Given the description of an element on the screen output the (x, y) to click on. 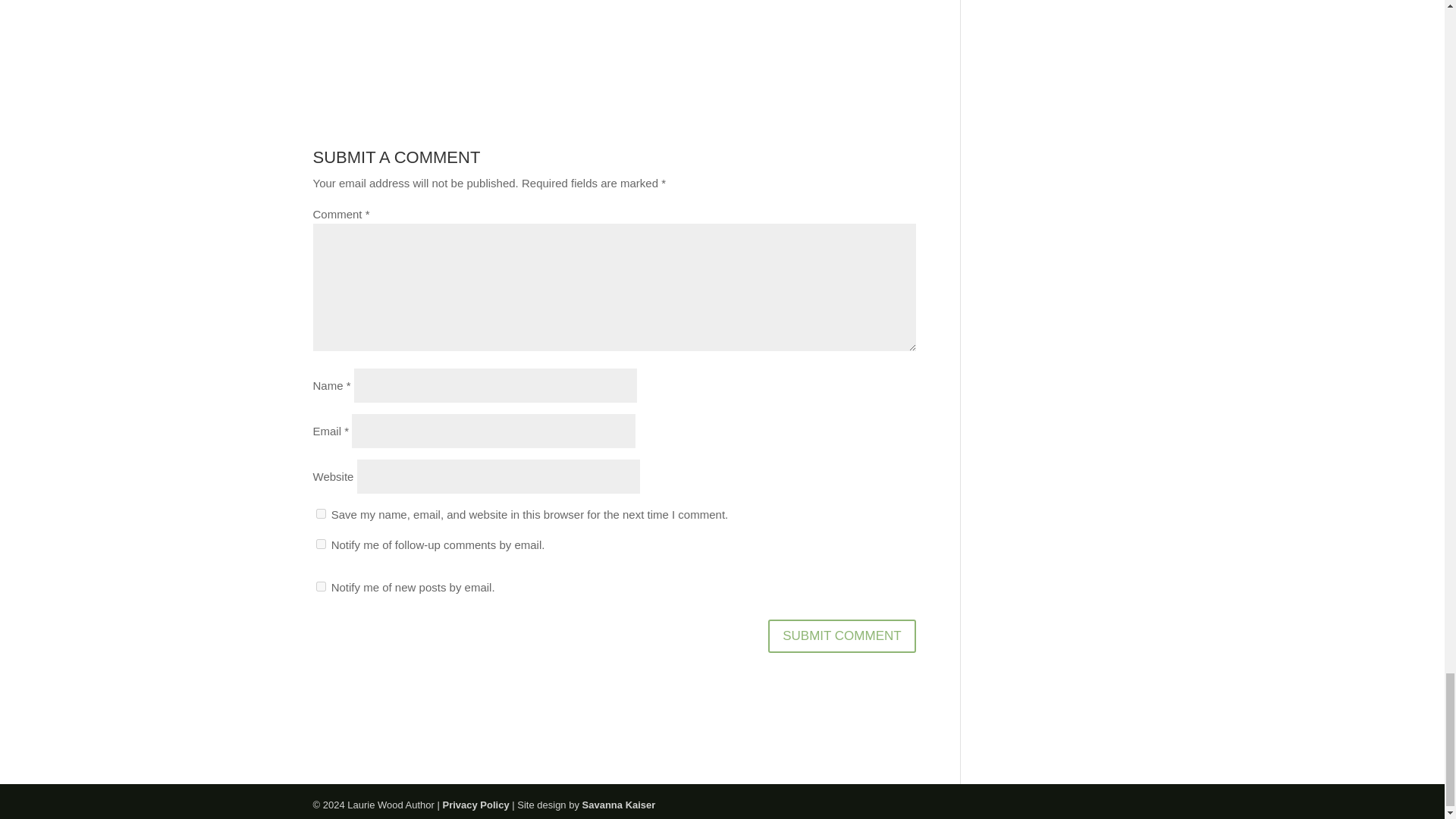
yes (319, 513)
Submit Comment (841, 635)
subscribe (319, 586)
Submit Comment (841, 635)
subscribe (319, 543)
